Given the description of an element on the screen output the (x, y) to click on. 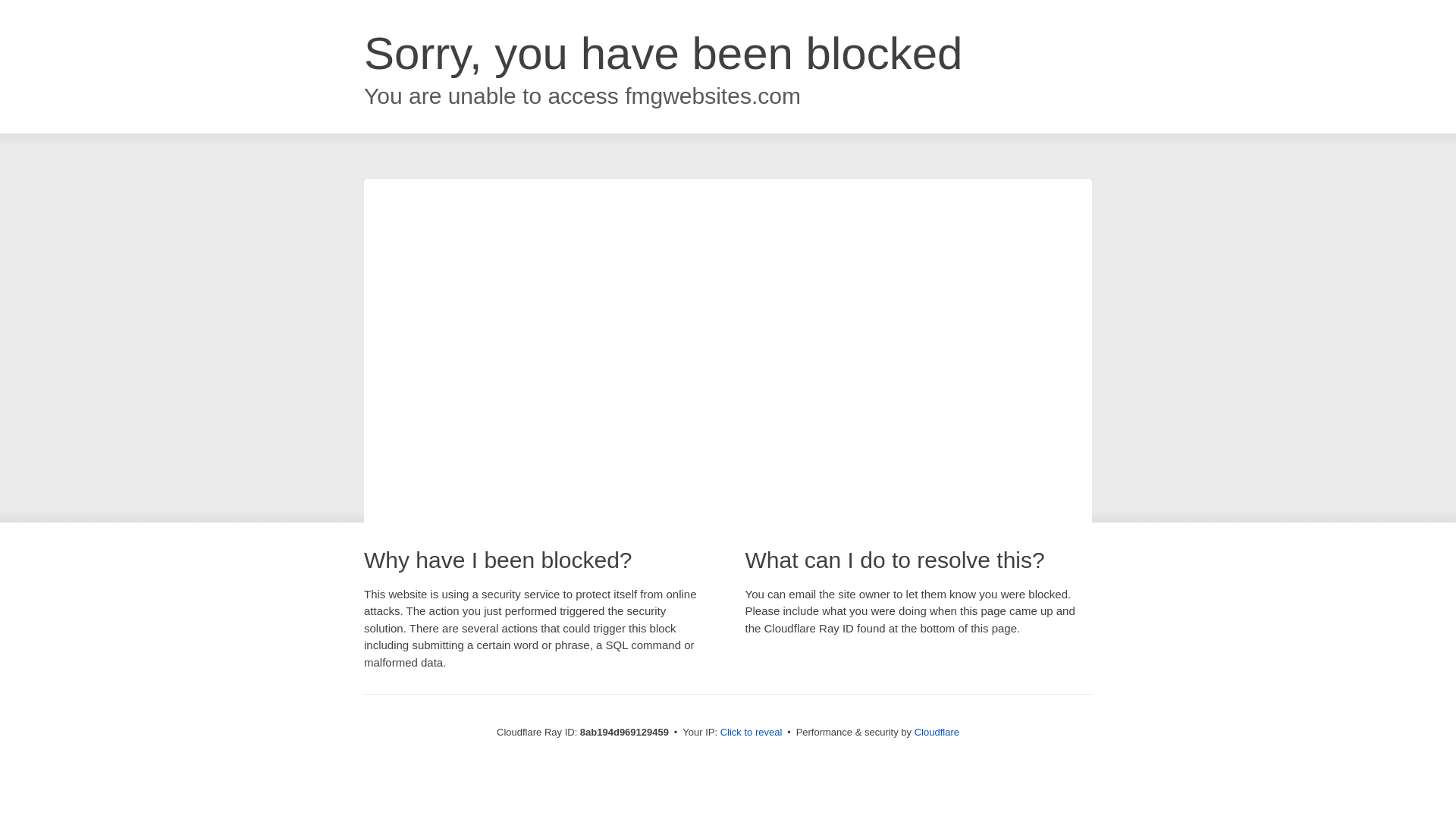
Cloudflare (936, 731)
Click to reveal (751, 732)
